Given the description of an element on the screen output the (x, y) to click on. 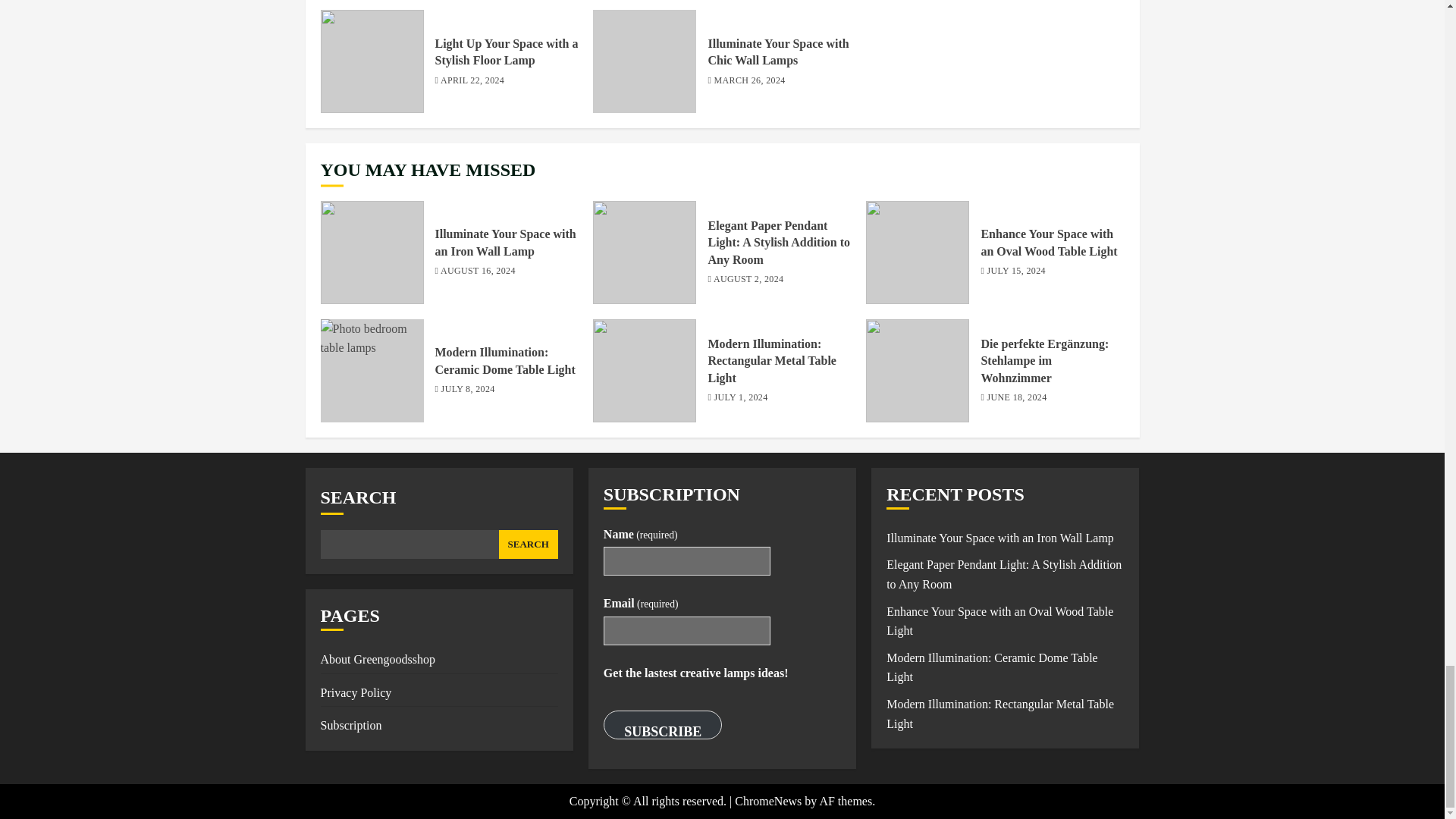
Elegant Paper Pendant Light: A Stylish Addition to Any Room (643, 251)
Modern Illumination: Rectangular Metal Table Light (643, 370)
Light Up Your Space with a Stylish Floor Lamp (506, 51)
Enhance Your Space with an Oval Wood Table Light (1047, 242)
Elegant Paper Pendant Light: A Stylish Addition to Any Room (778, 242)
Enhance Your Space with an Oval Wood Table Light (917, 251)
Illuminate Your Space with an Iron Wall Lamp (505, 242)
Illuminate Your Space with Chic Wall Lamps (777, 51)
Light Up Your Space with a Stylish Floor Lamp (371, 61)
Illuminate Your Space with Chic Wall Lamps (643, 61)
